Given the description of an element on the screen output the (x, y) to click on. 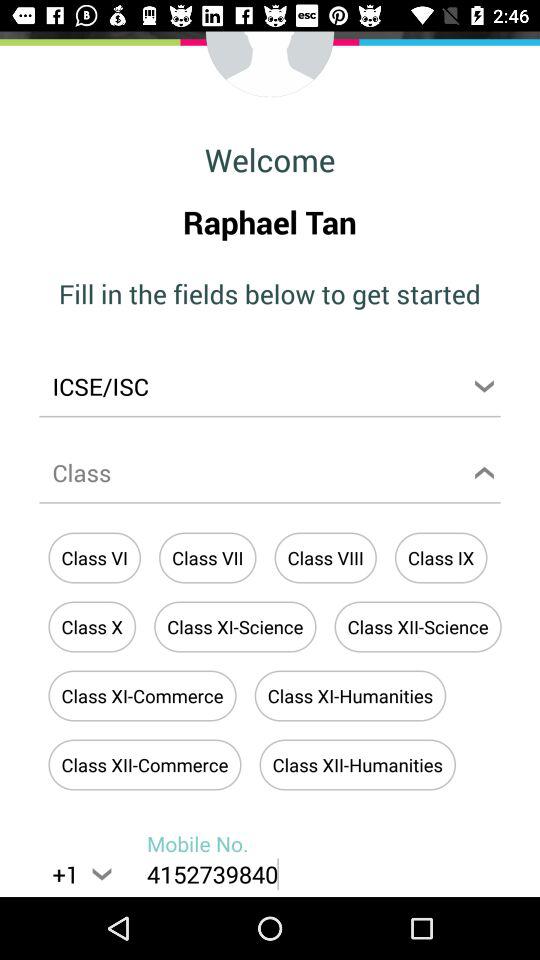
this is where a profile image would go (269, 65)
